Given the description of an element on the screen output the (x, y) to click on. 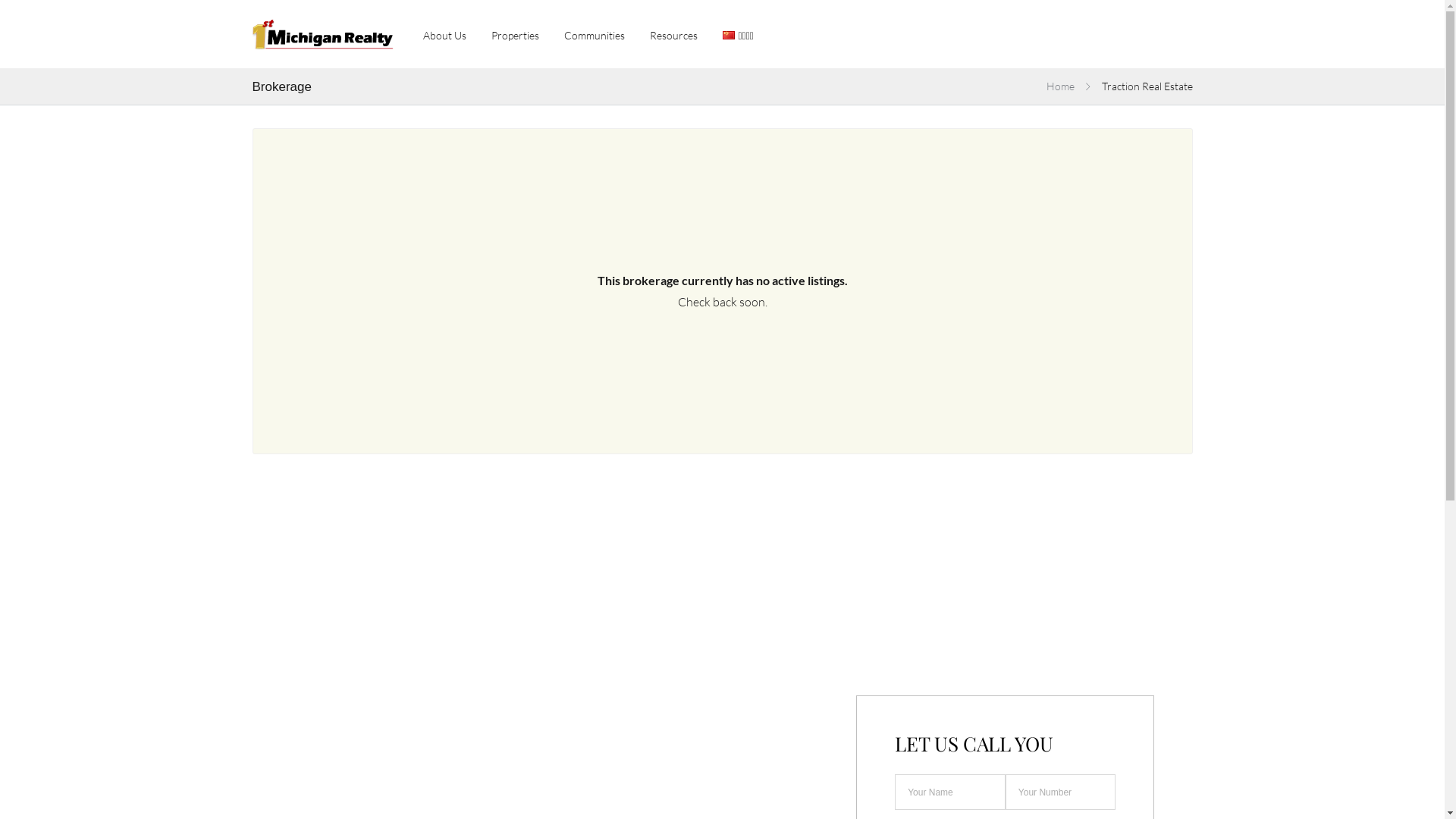
About Us Element type: text (444, 33)
Resources Element type: text (673, 33)
Communities Element type: text (594, 33)
Properties Element type: text (515, 33)
Home Element type: text (1060, 85)
